Given the description of an element on the screen output the (x, y) to click on. 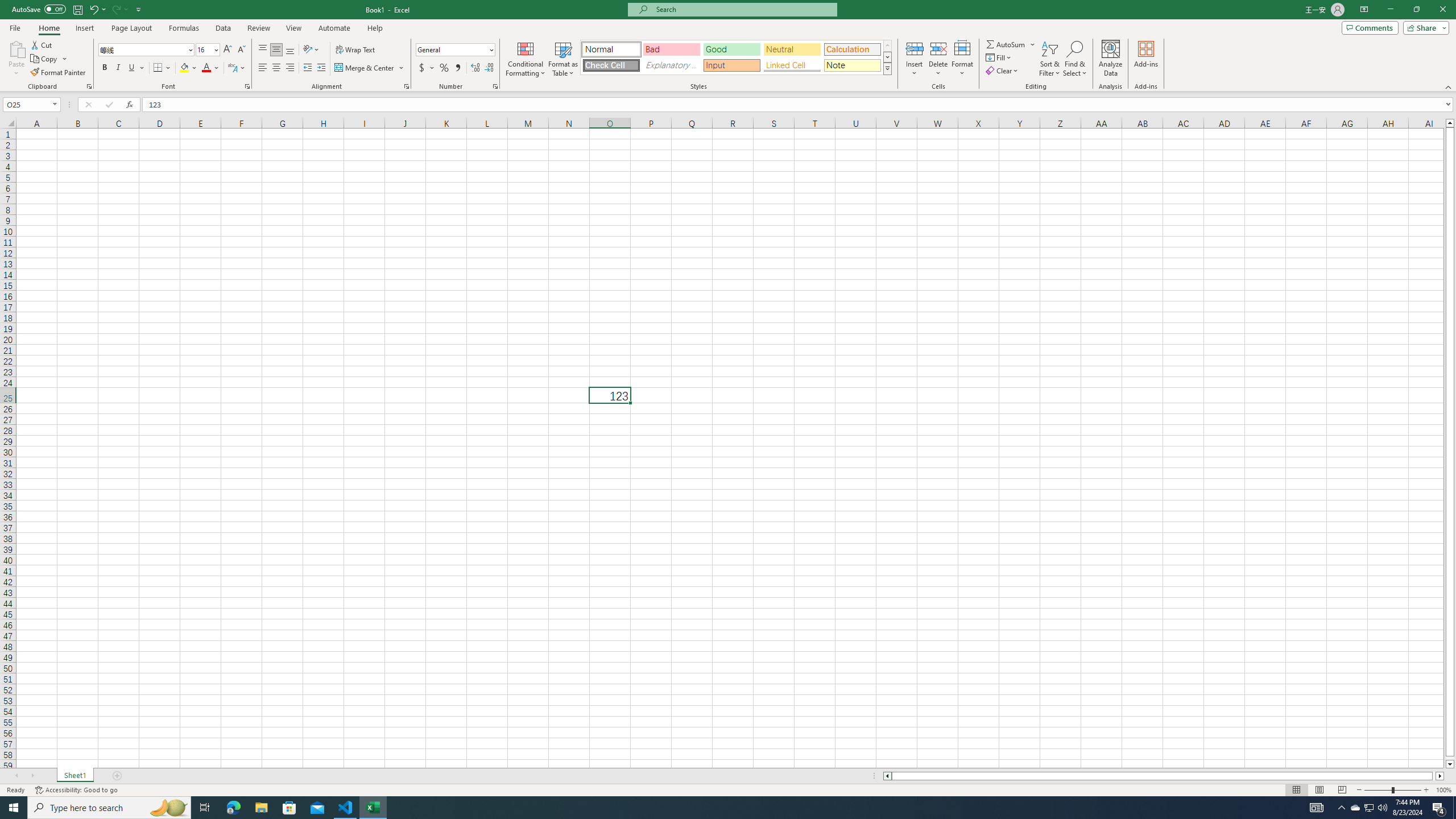
Font Color (210, 67)
Class: NetUIImage (887, 68)
Increase Font Size (227, 49)
Fill (999, 56)
Format Cell Number (494, 85)
Add Sheet (117, 775)
Restore Down (1416, 9)
Number Format (451, 49)
Check Cell (611, 65)
Middle Align (276, 49)
Note (852, 65)
Bottom Border (157, 67)
Copy (49, 58)
